Given the description of an element on the screen output the (x, y) to click on. 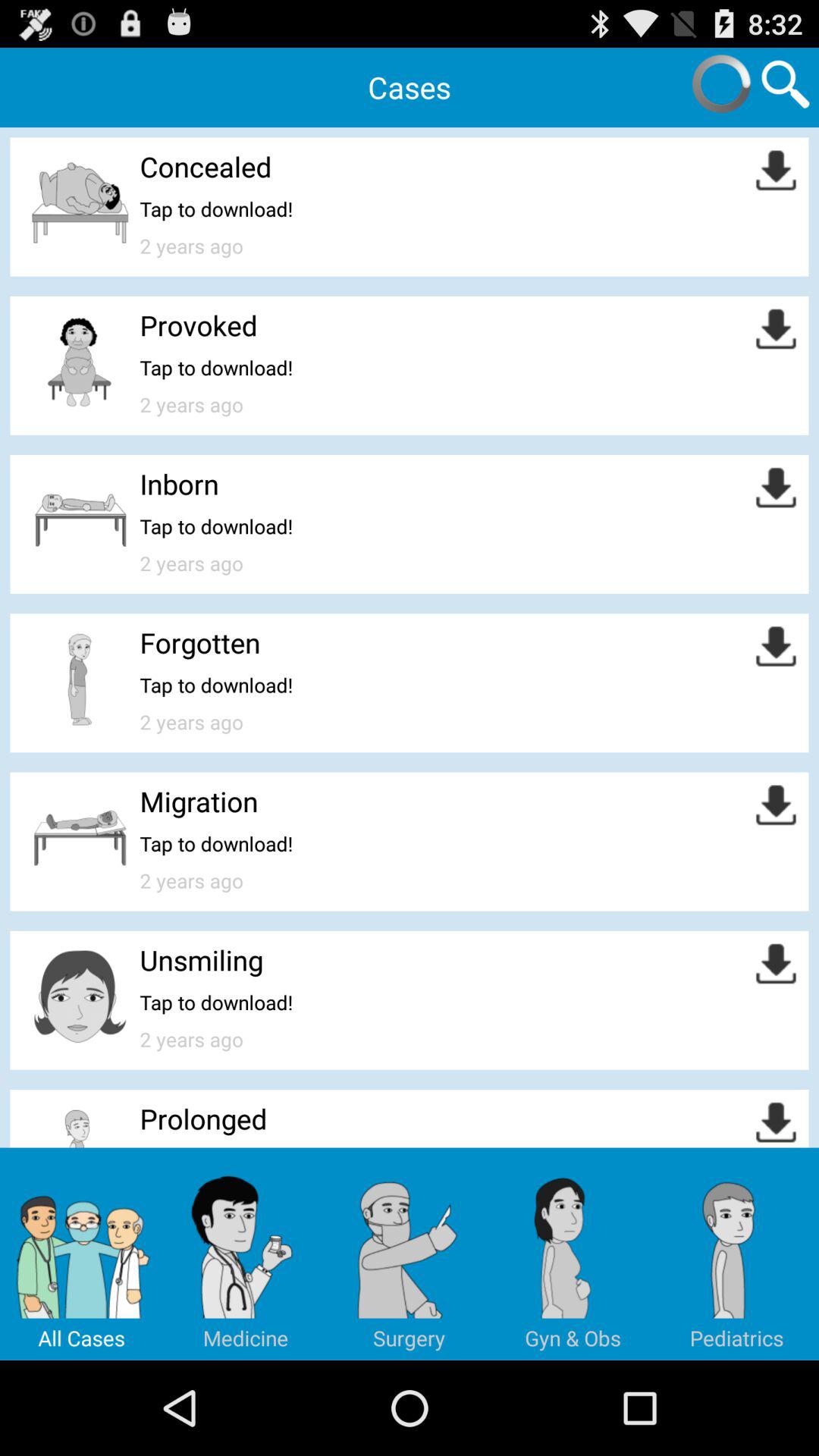
select app above tap to download! icon (198, 801)
